Given the description of an element on the screen output the (x, y) to click on. 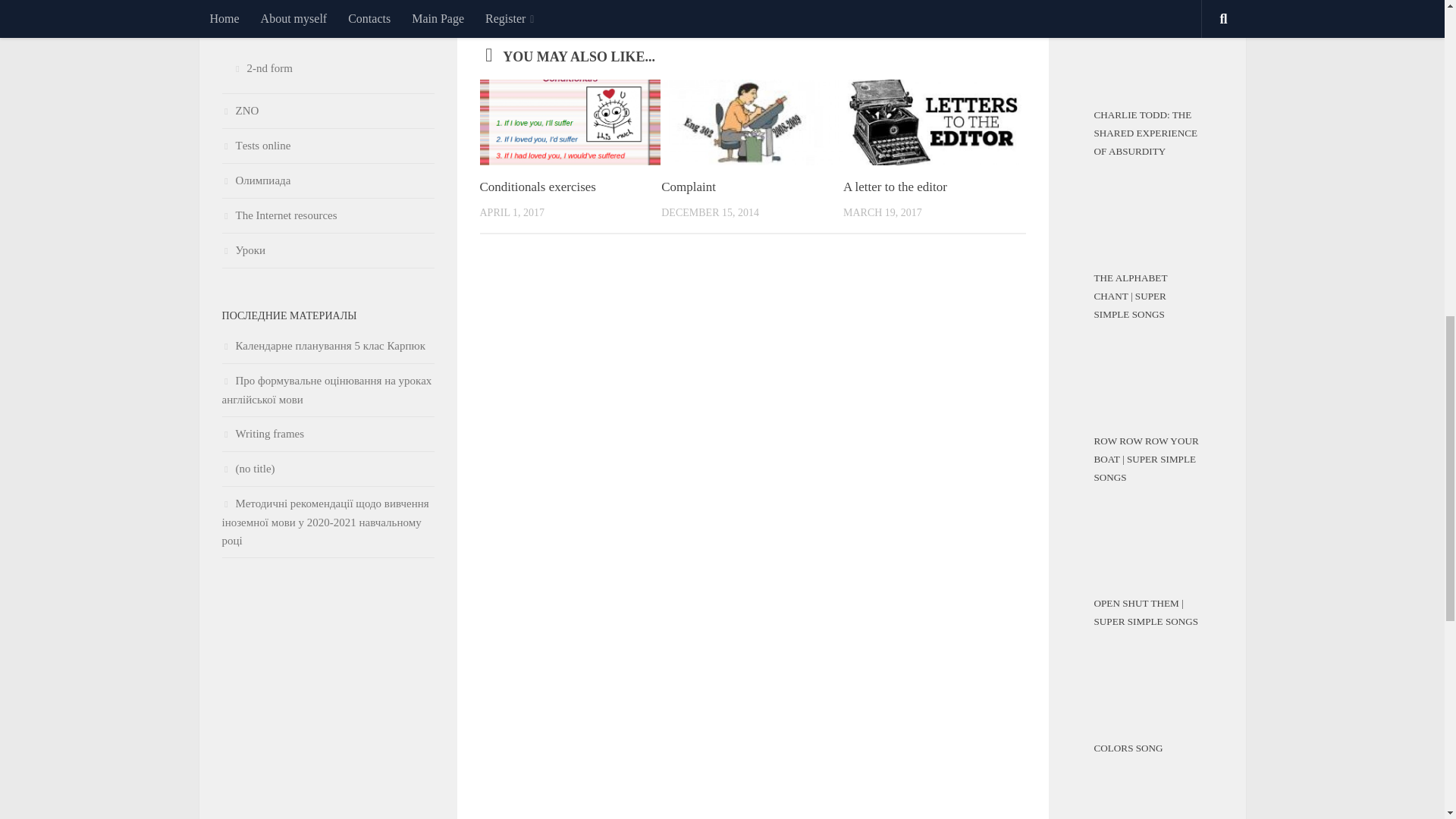
Complaint (688, 186)
Conditionals exercises (537, 186)
